Given the description of an element on the screen output the (x, y) to click on. 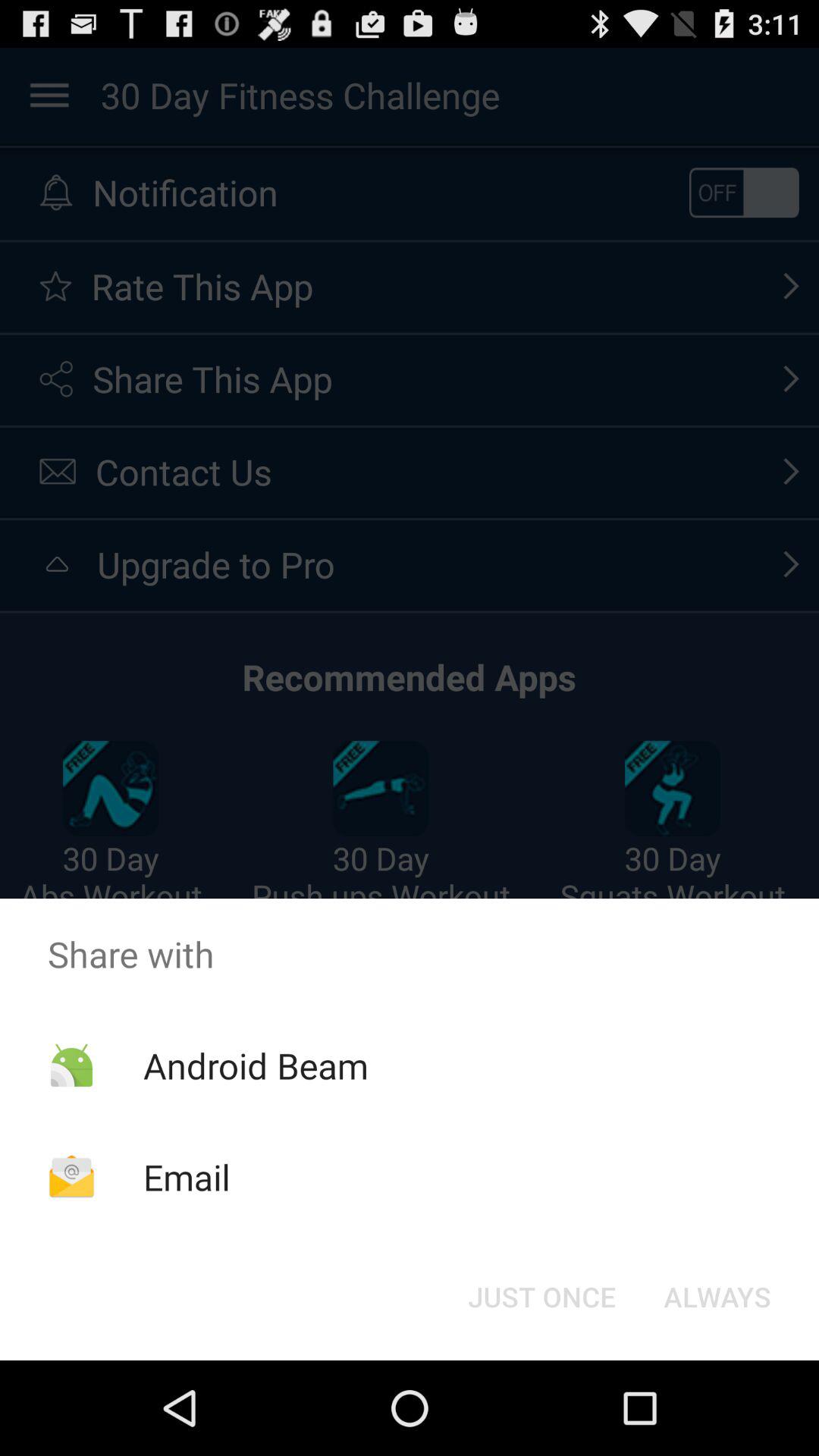
launch just once at the bottom (541, 1296)
